Given the description of an element on the screen output the (x, y) to click on. 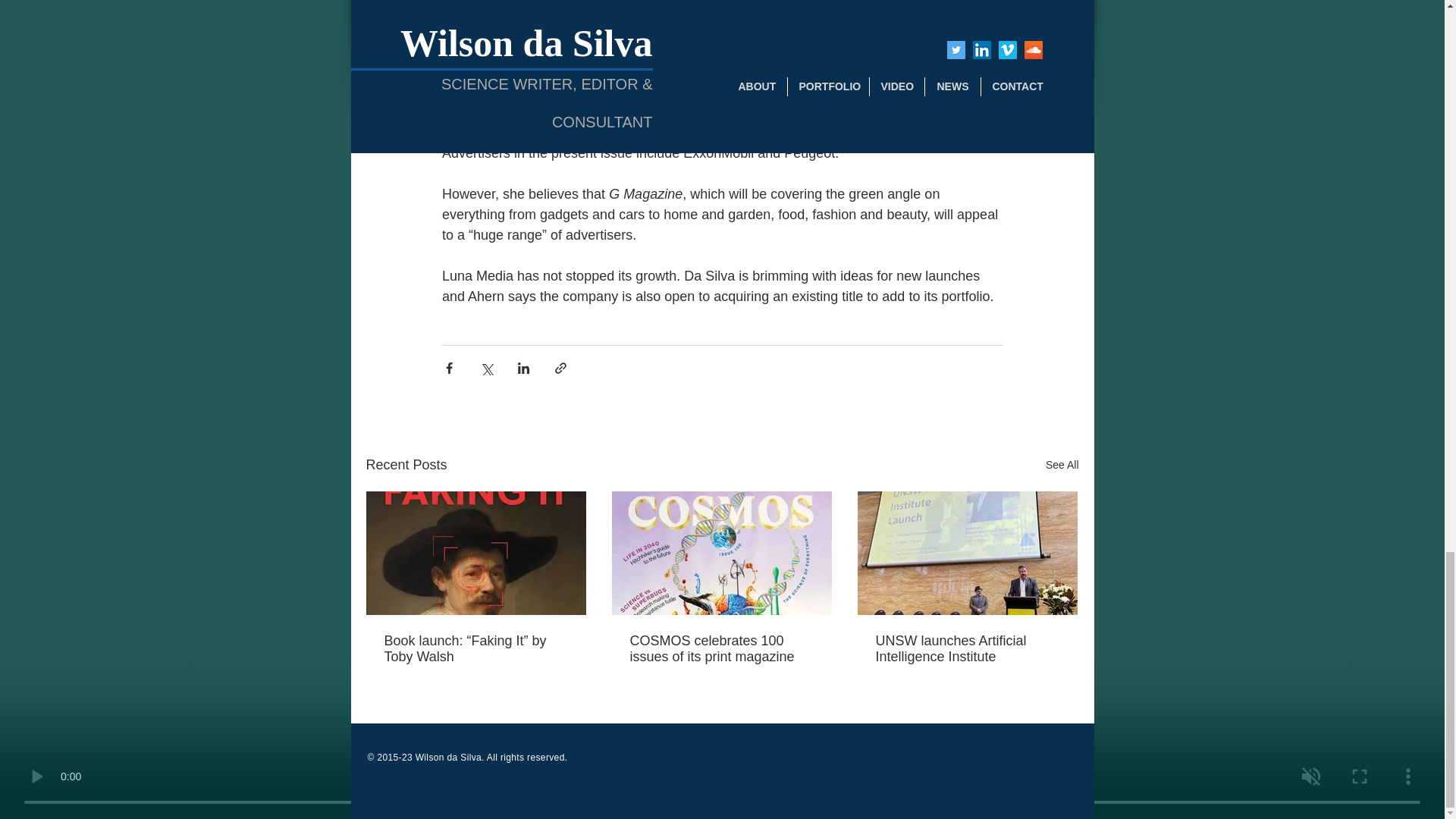
See All (1061, 464)
UNSW launches Artificial Intelligence Institute (966, 649)
COSMOS celebrates 100 issues of its print magazine (720, 649)
